Given the description of an element on the screen output the (x, y) to click on. 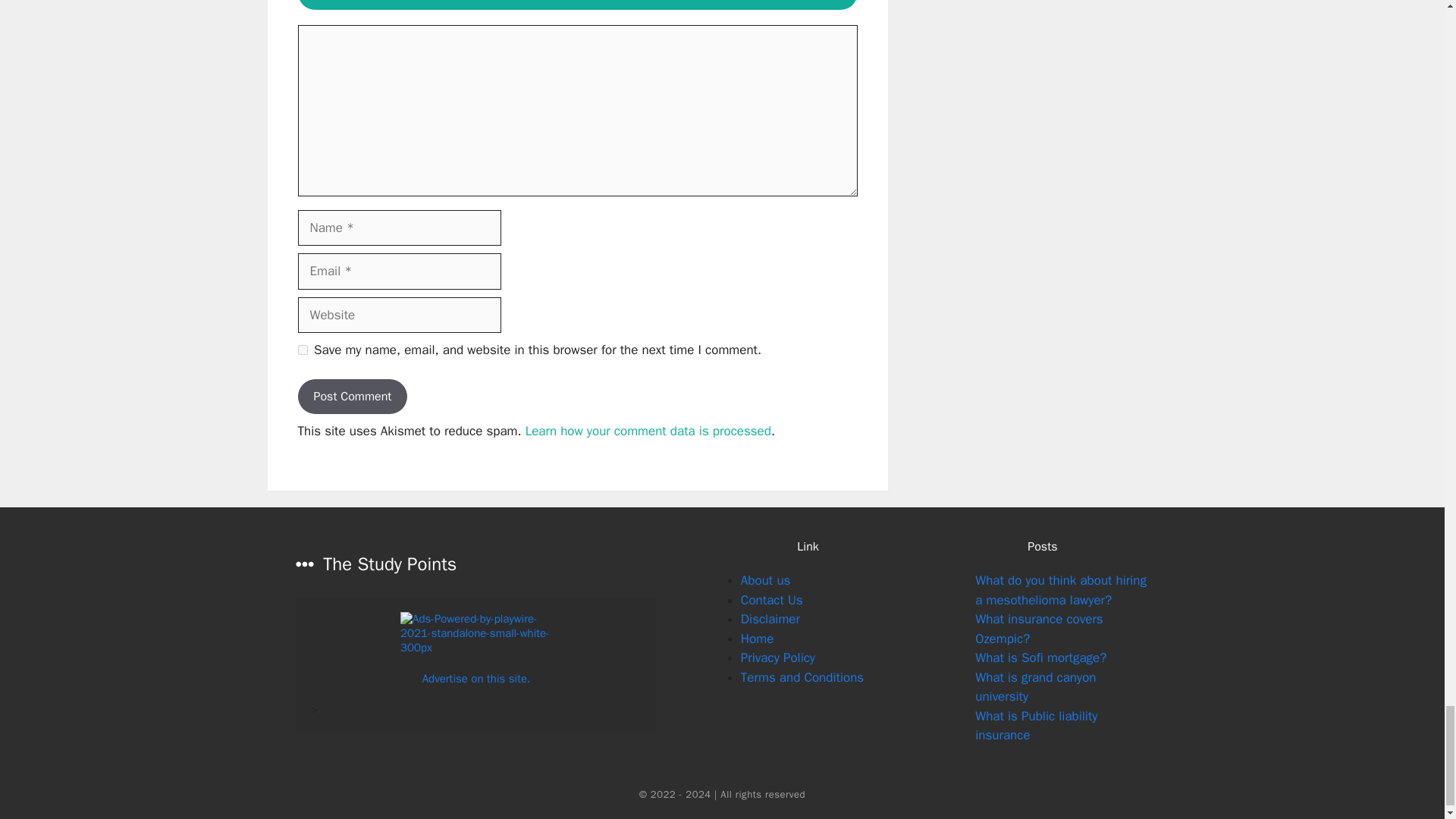
yes (302, 349)
Learn how your comment data is processed (648, 430)
Post Comment (352, 396)
Privacy Policy (778, 657)
Terms and Conditions (802, 677)
Home (757, 638)
What insurance covers Ozempic? (1038, 628)
What do you think about hiring a mesothelioma lawyer? (1061, 590)
About us (765, 580)
Post Comment (352, 396)
